Given the description of an element on the screen output the (x, y) to click on. 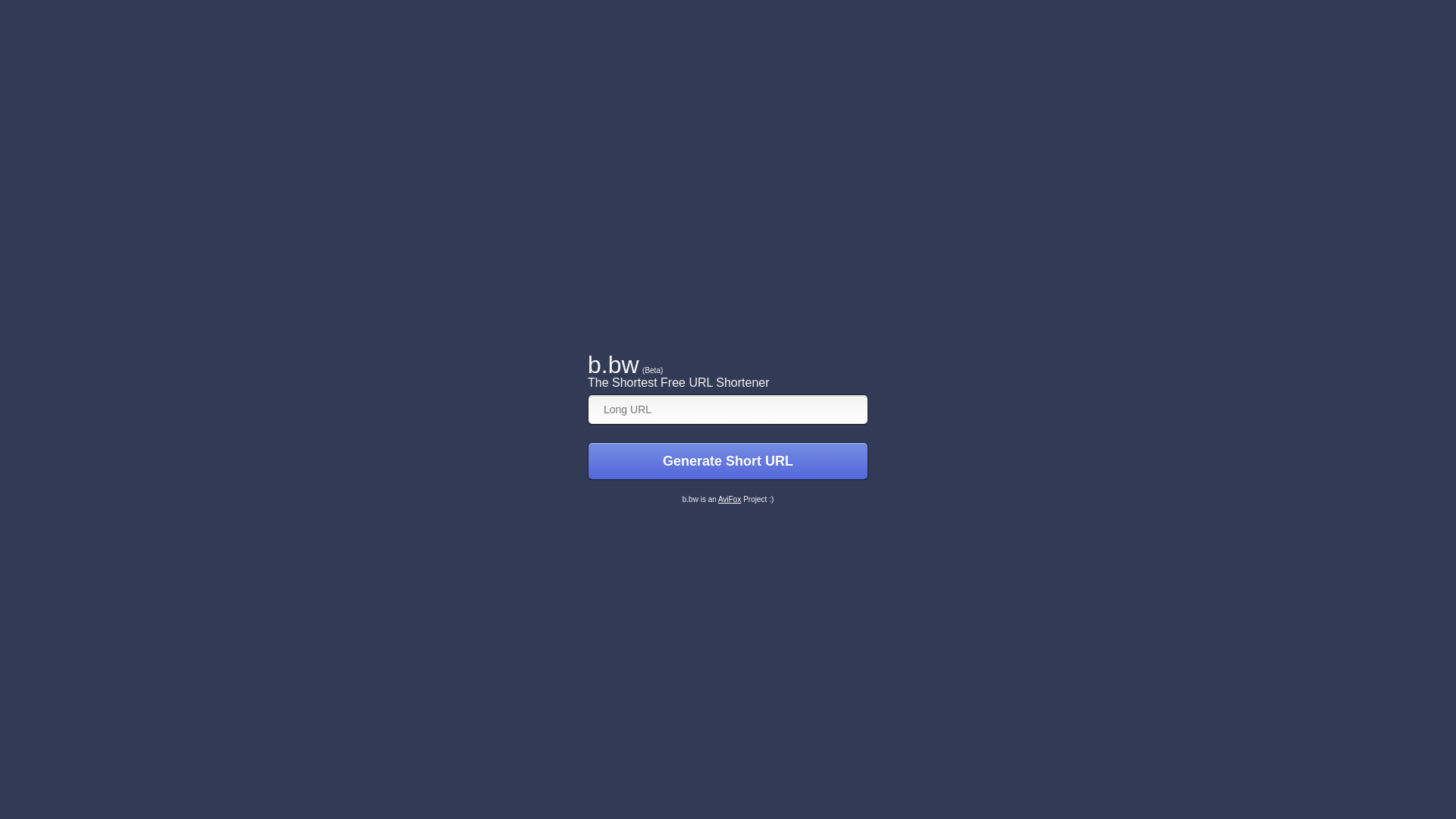
AviFox Element type: text (729, 499)
Generate Short URL Element type: text (727, 461)
